Given the description of an element on the screen output the (x, y) to click on. 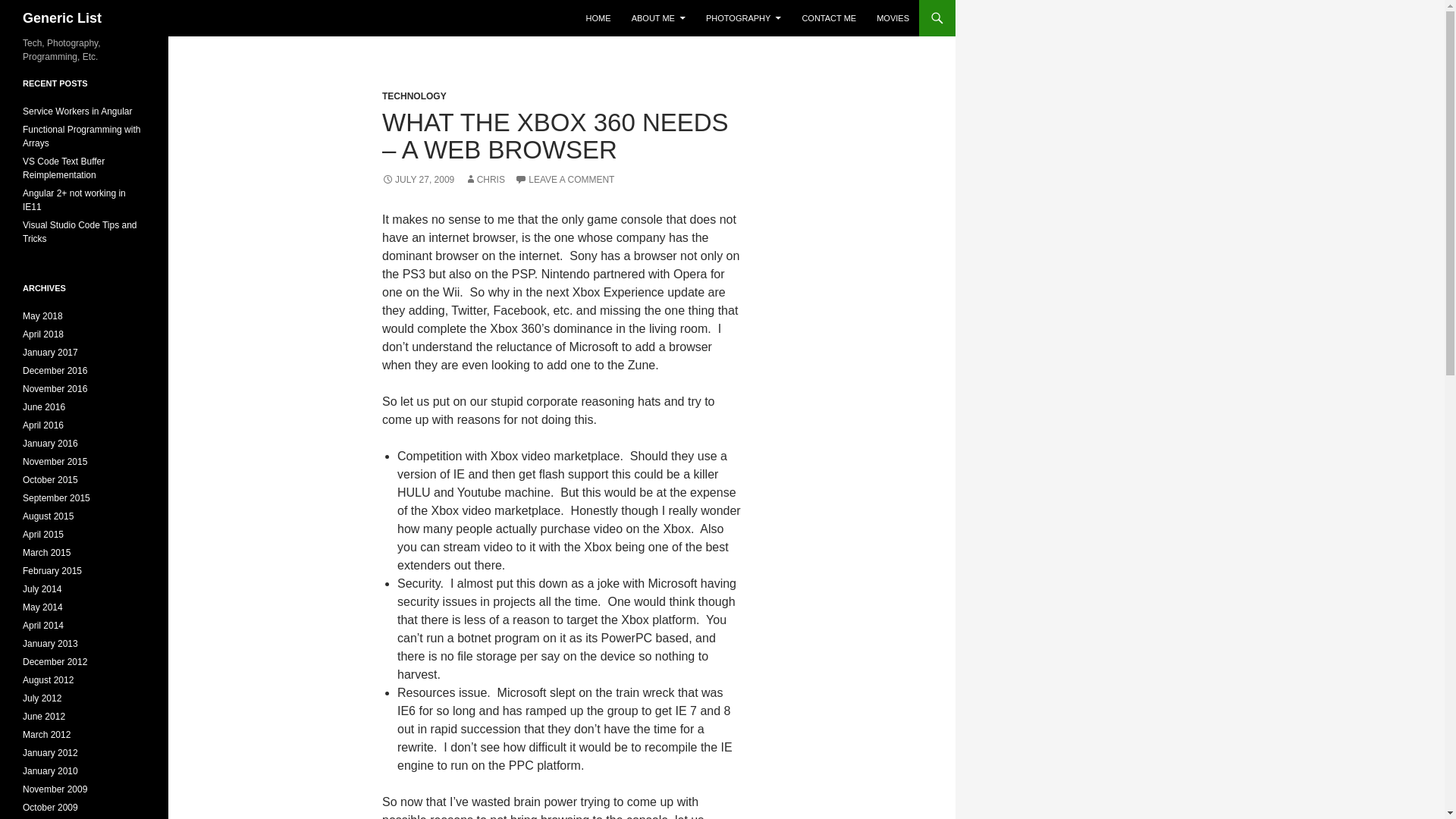
PHOTOGRAPHY (743, 18)
June 2016 (44, 407)
VS Code Text Buffer Reimplementation (63, 168)
JULY 27, 2009 (417, 179)
CHRIS (484, 179)
CONTACT ME (828, 18)
January 2017 (50, 352)
Generic List (62, 18)
April 2018 (43, 334)
May 2018 (42, 316)
